Given the description of an element on the screen output the (x, y) to click on. 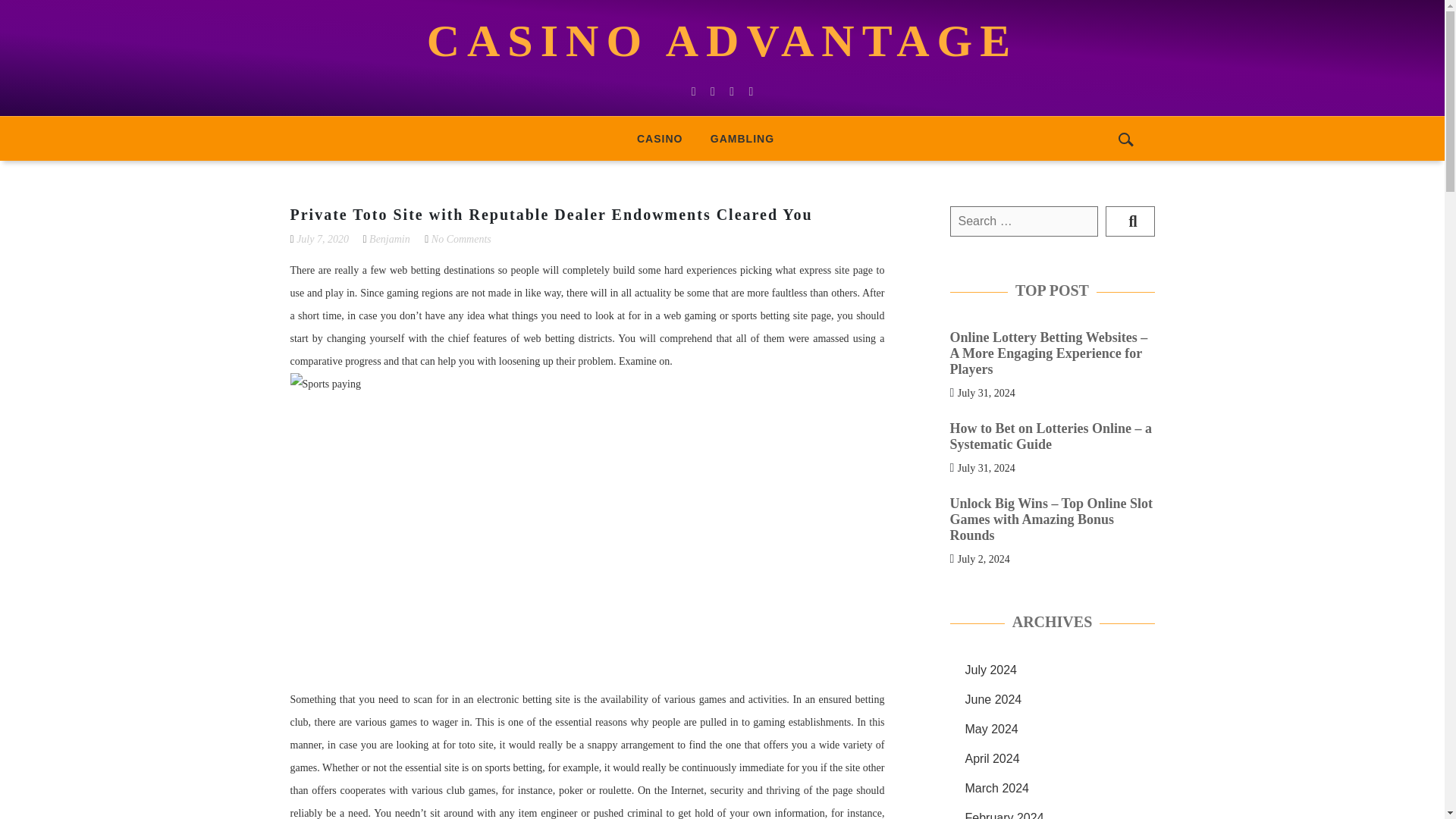
No Comments (461, 238)
April 2024 (991, 758)
July 7, 2020 (323, 238)
CASINO (659, 138)
Casino (659, 138)
Search (1129, 221)
July 31, 2024 (986, 391)
July 31, 2024 (986, 467)
July 2, 2024 (984, 558)
June 2024 (992, 698)
